Given the description of an element on the screen output the (x, y) to click on. 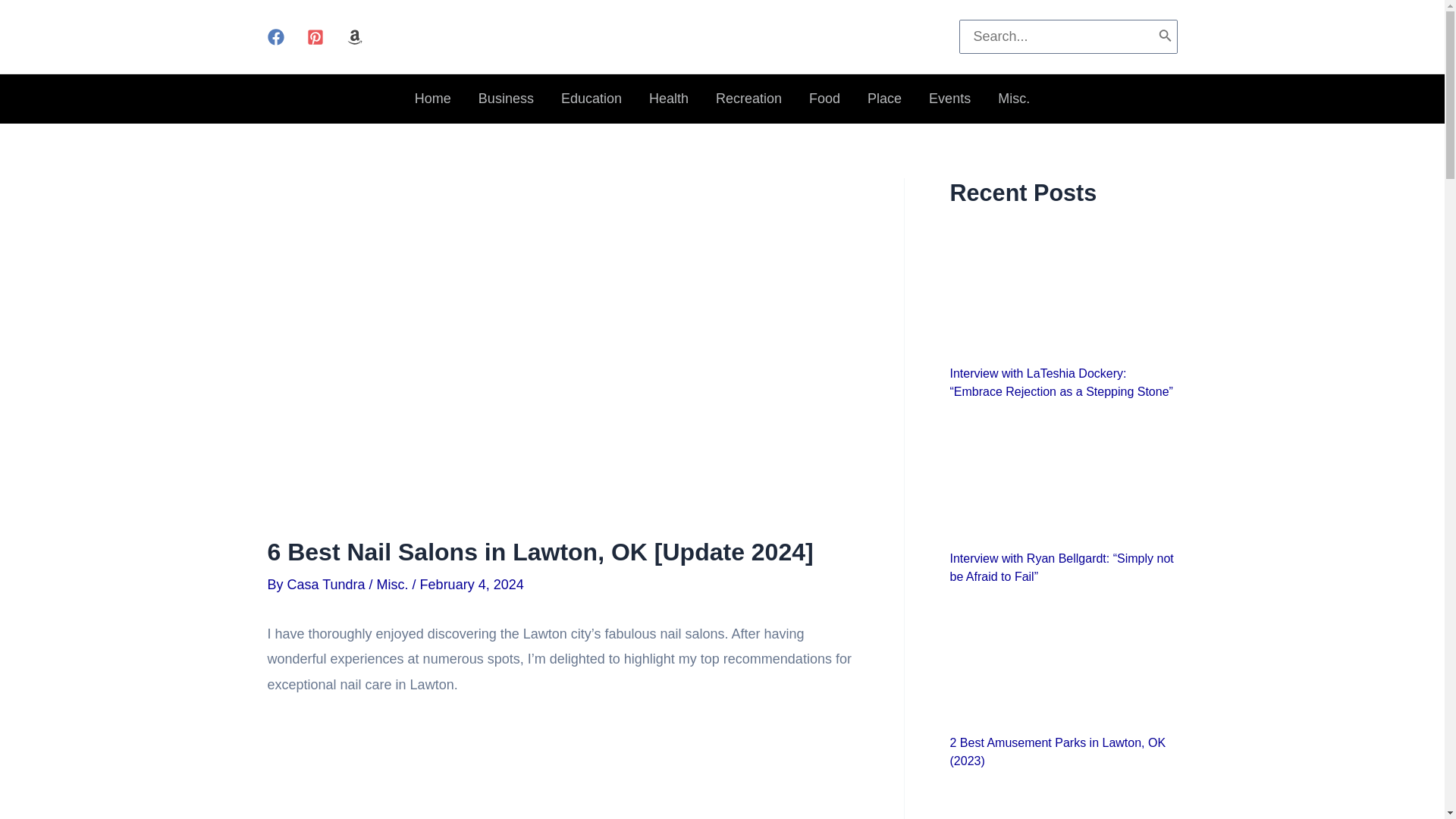
Home (432, 98)
Business (505, 98)
Education (590, 98)
Casa Tundra (327, 584)
Events (949, 98)
Food (823, 98)
Search (1165, 36)
Misc. (1013, 98)
View all posts by Casa Tundra (327, 584)
Misc. (393, 584)
Health (667, 98)
Recreation (747, 98)
Place (884, 98)
